Given the description of an element on the screen output the (x, y) to click on. 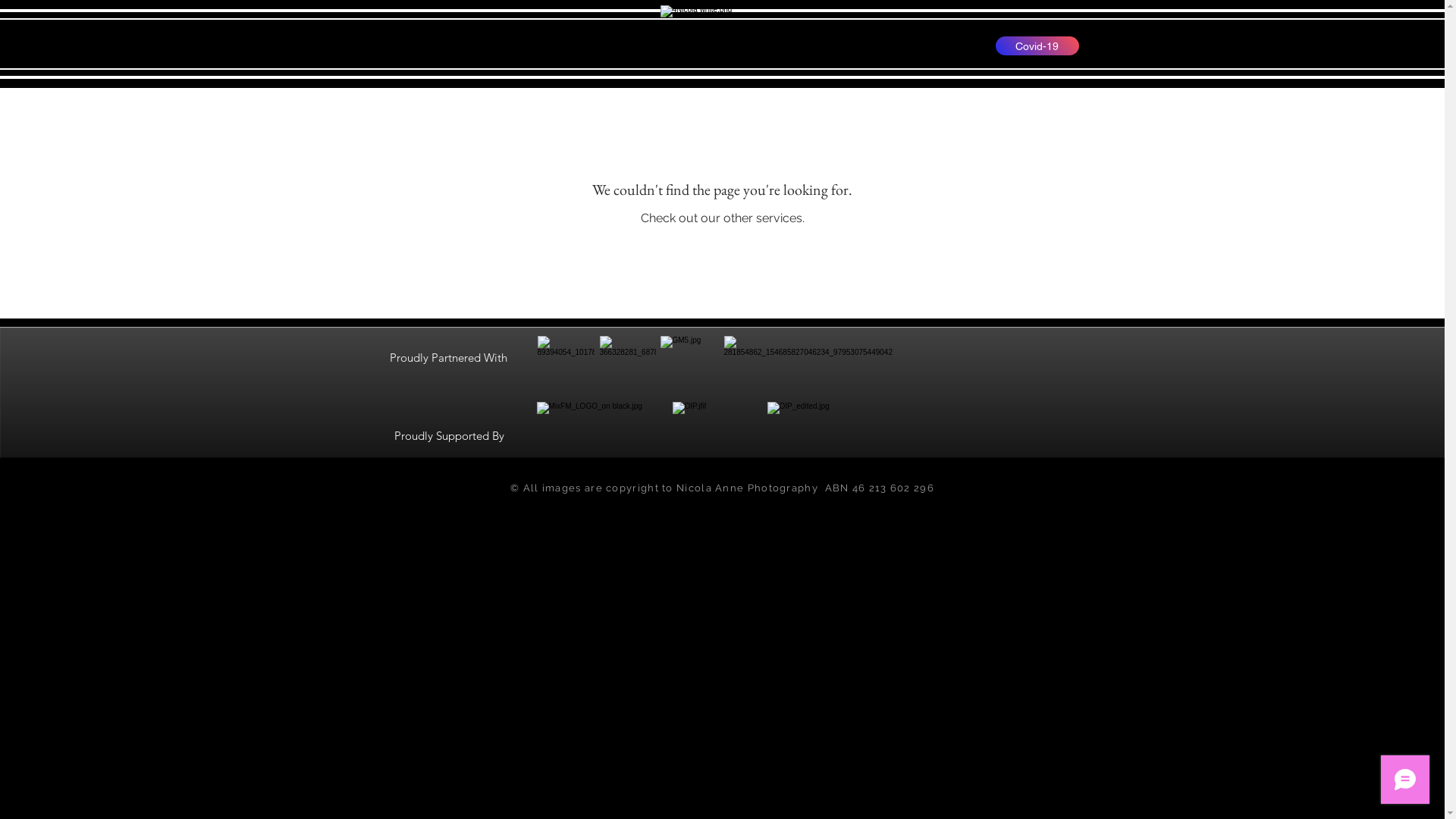
Site Search Element type: hover (411, 45)
Covid-19 Element type: text (1036, 45)
